Given the description of an element on the screen output the (x, y) to click on. 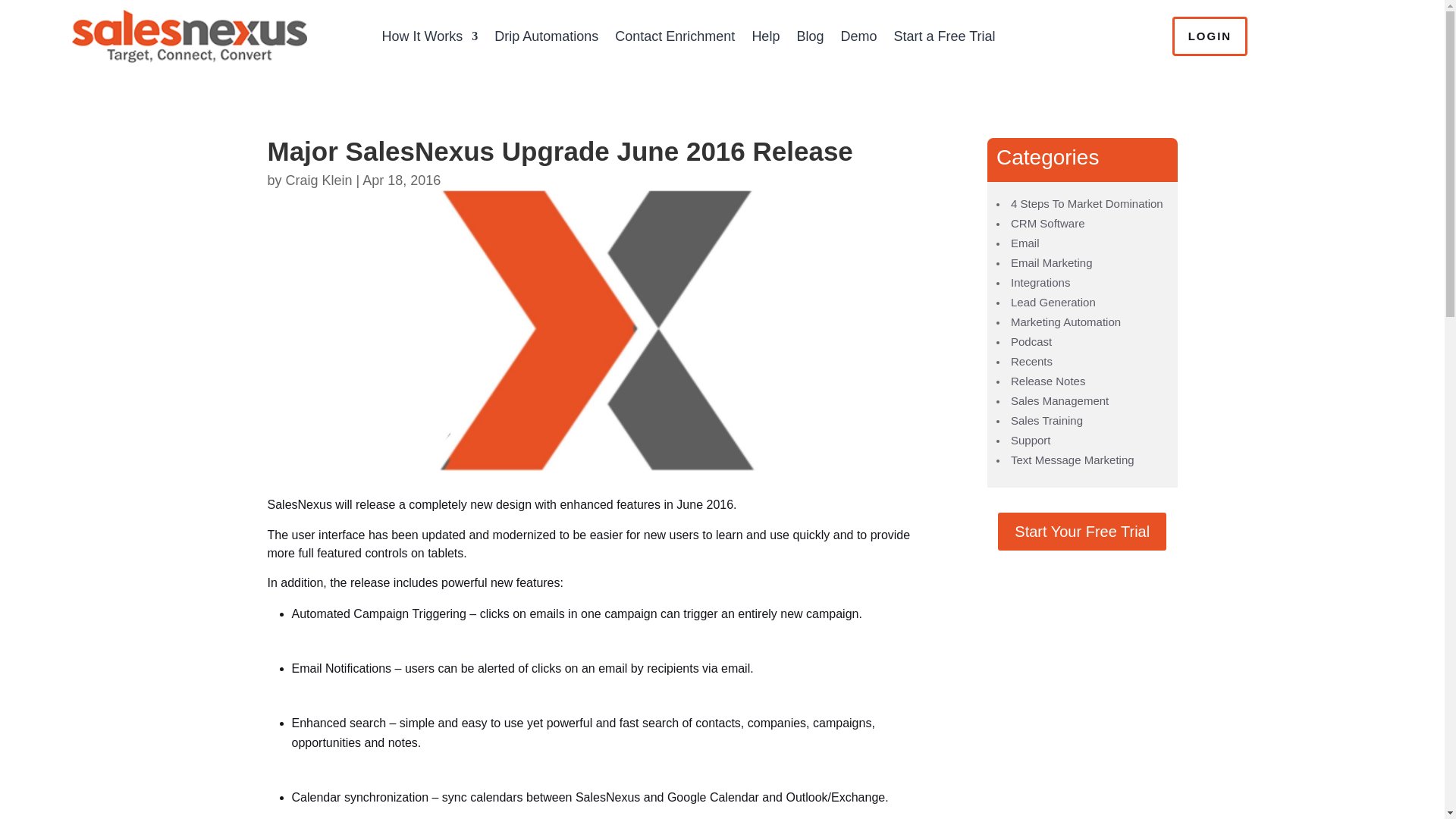
Drip Automations (546, 36)
How It Works (430, 36)
Blog (810, 36)
Demo (858, 36)
Start a Free Trial (943, 36)
Help (764, 36)
Major SalesNexus Upgrade June 2016 Release (601, 330)
Posts by Craig Klein (318, 180)
Contact Enrichment (674, 36)
